Given the description of an element on the screen output the (x, y) to click on. 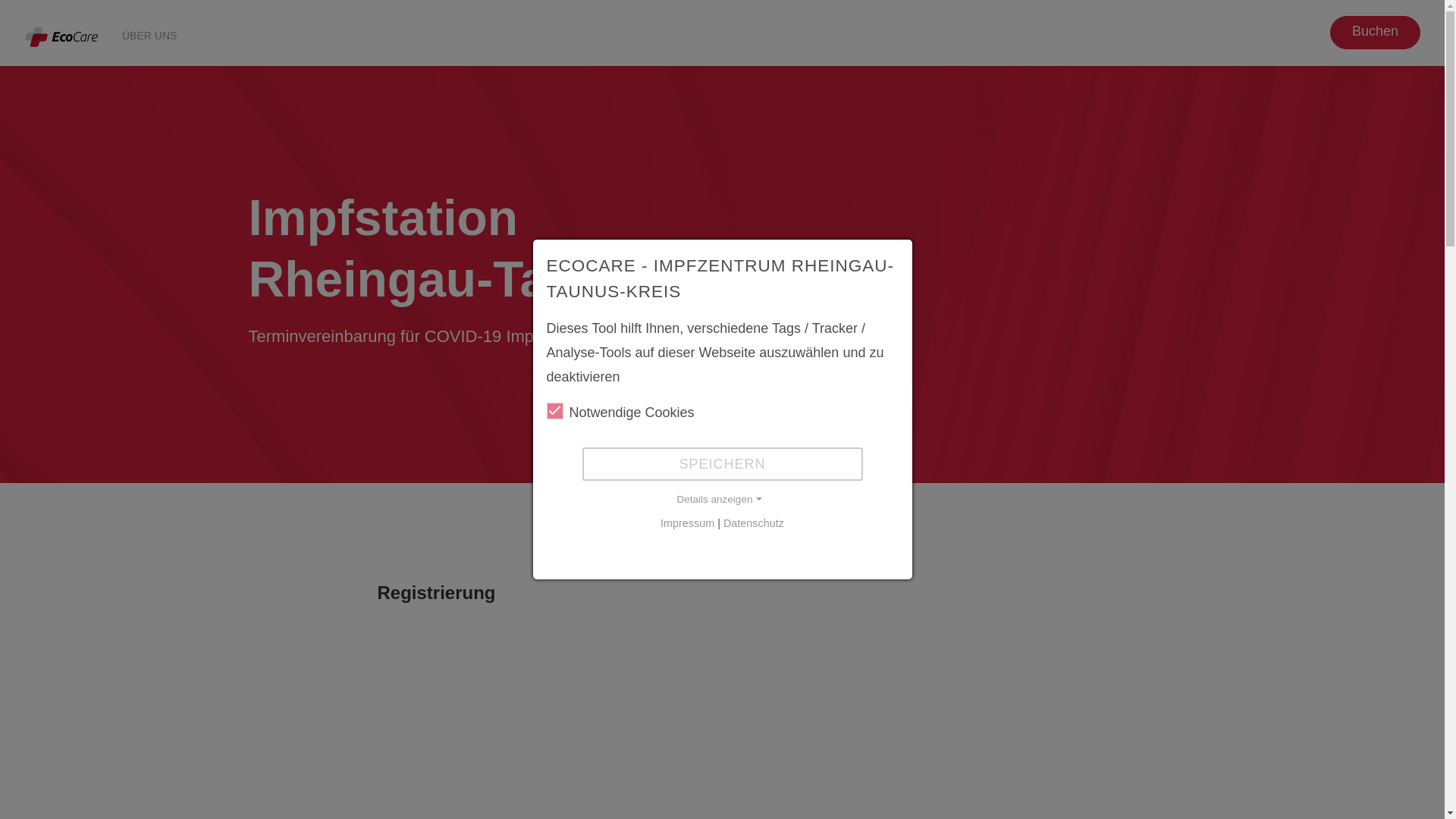
SPEICHERN Element type: text (722, 463)
Datenschutz Element type: text (753, 523)
Details anzeigen Element type: text (721, 498)
Impressum Element type: text (687, 523)
Buchen Element type: text (1375, 32)
Home Element type: hover (60, 36)
